Given the description of an element on the screen output the (x, y) to click on. 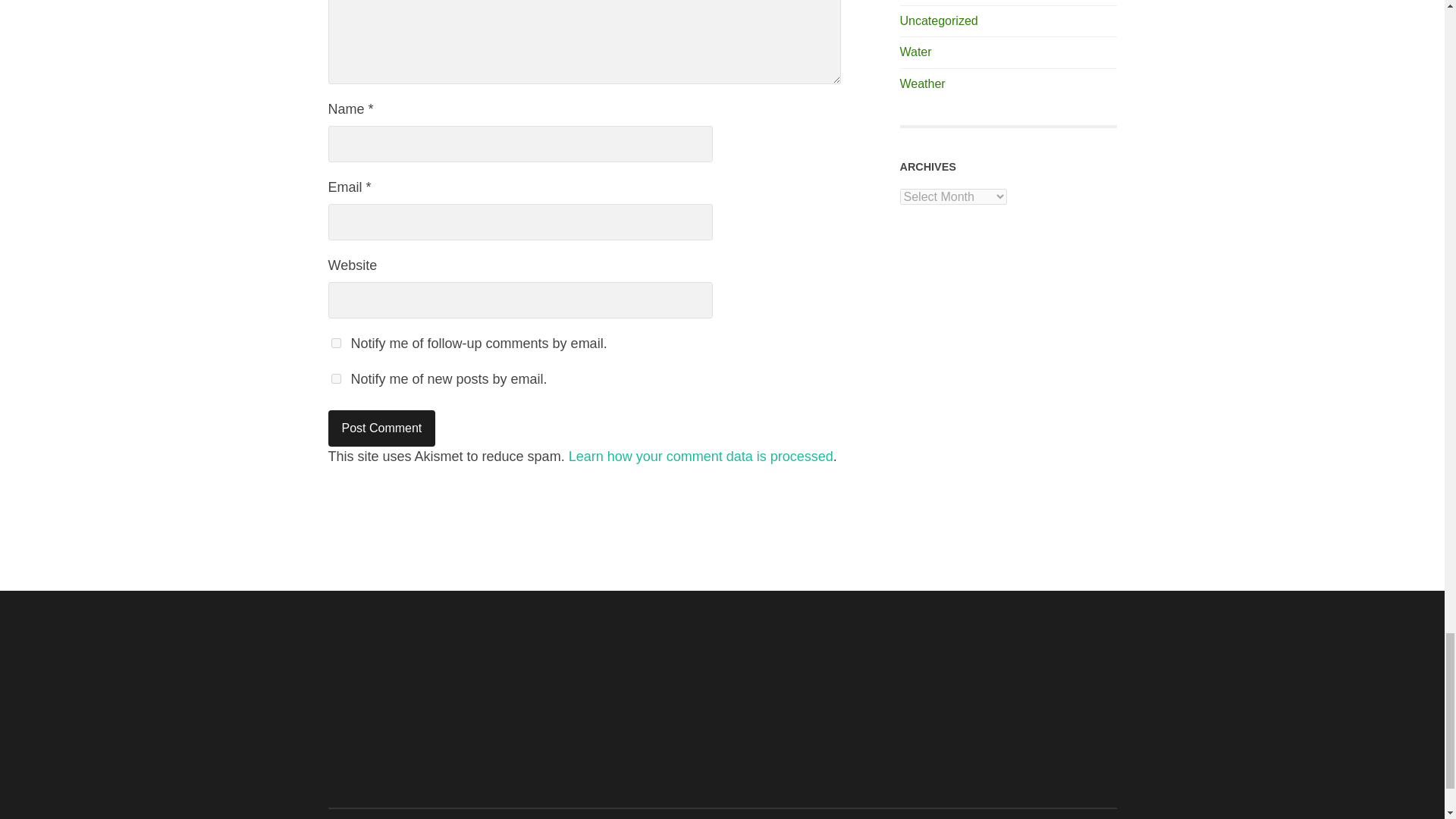
Post Comment (381, 428)
subscribe (335, 378)
subscribe (335, 343)
